Given the description of an element on the screen output the (x, y) to click on. 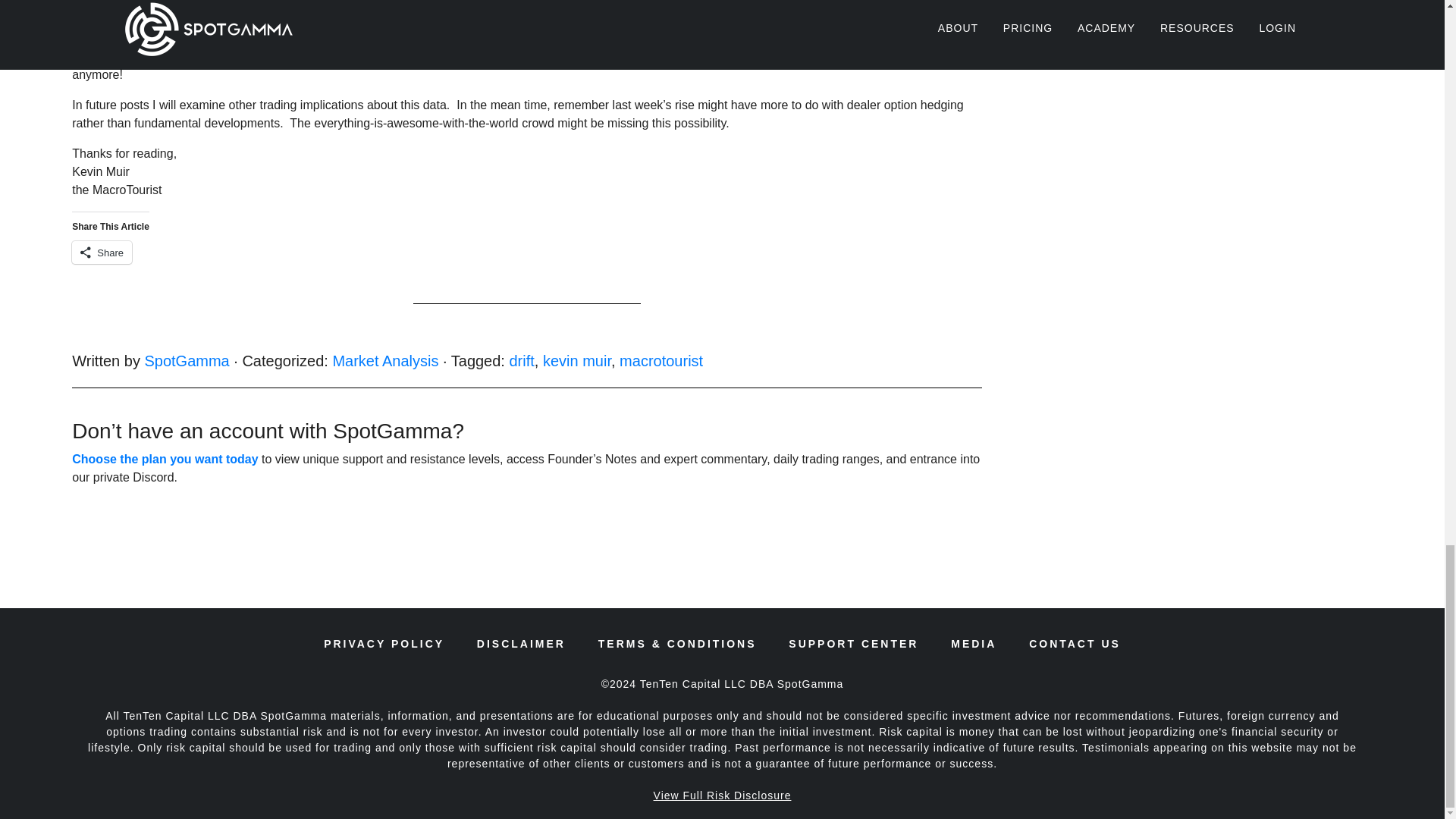
SUPPORT CENTER (853, 643)
SpotGamma (186, 360)
Share (101, 251)
drift (521, 360)
DISCLAIMER (521, 643)
CONTACT US (1075, 643)
Choose the plan you want today (164, 459)
Market Analysis (384, 360)
MEDIA (972, 643)
macrotourist (661, 360)
kevin muir (577, 360)
PRIVACY POLICY (383, 643)
